Given the description of an element on the screen output the (x, y) to click on. 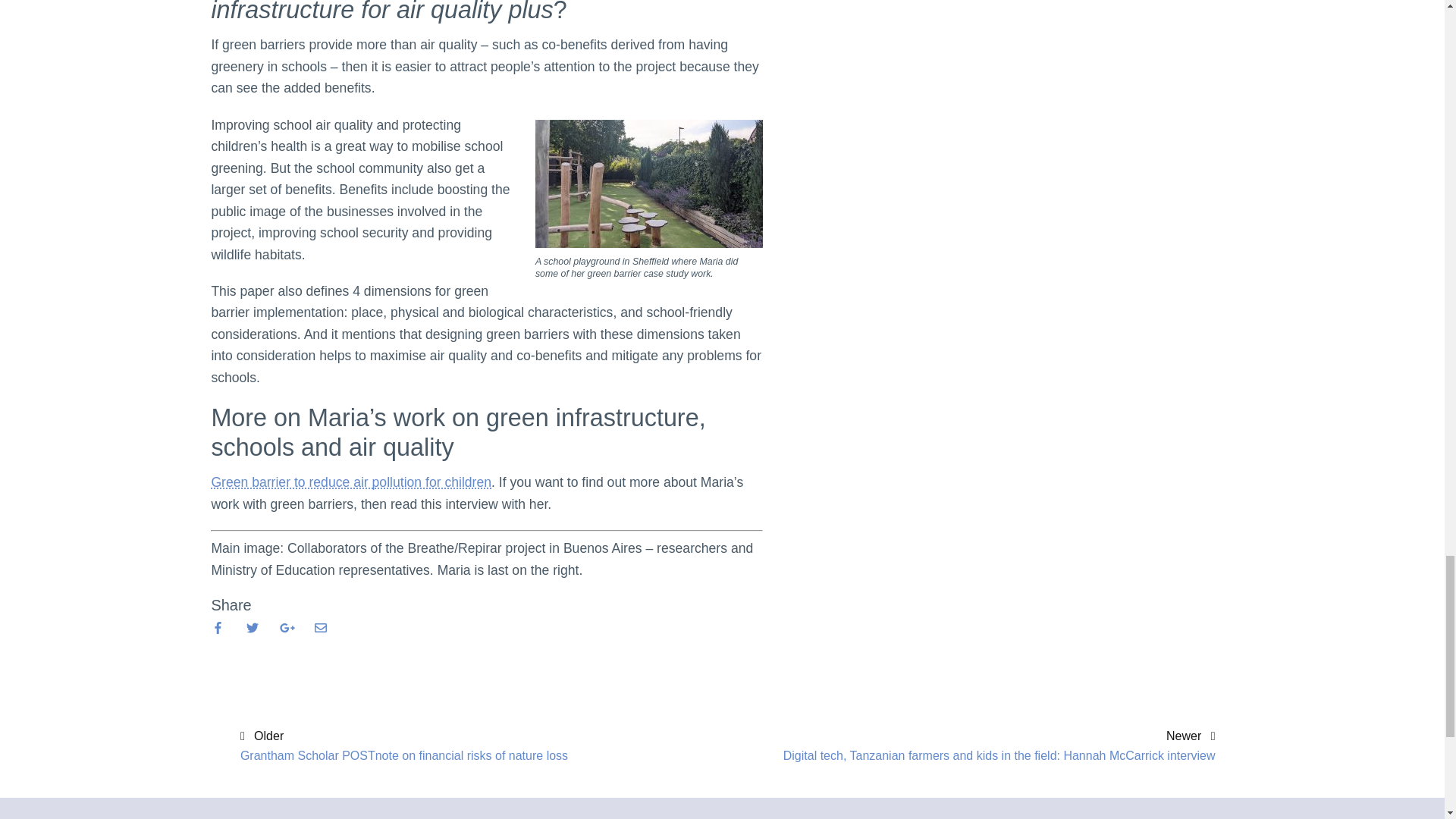
Green barrier to reduce air pollution for children (351, 482)
